Given the description of an element on the screen output the (x, y) to click on. 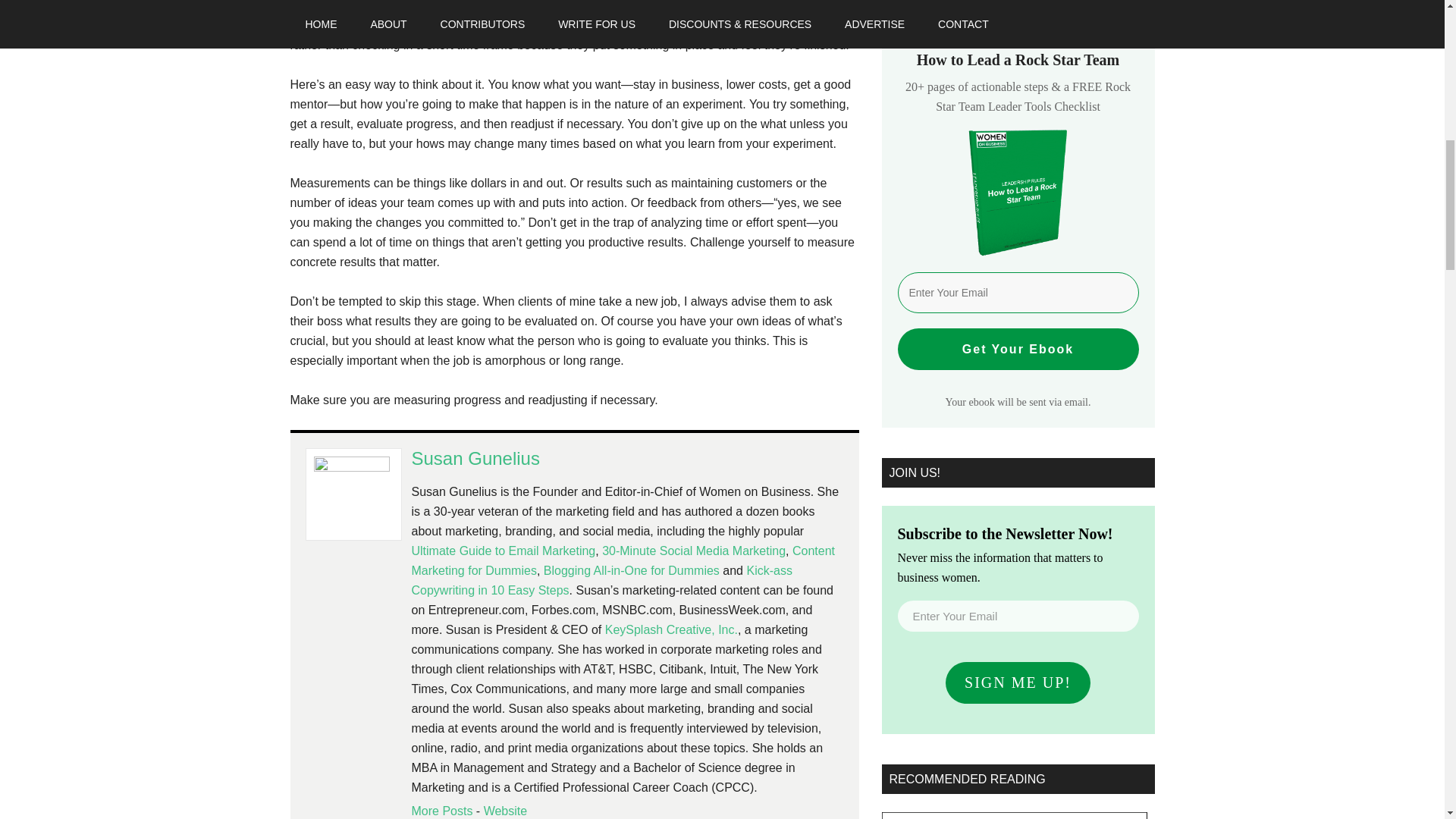
More Posts (440, 810)
Kick-ass Copywriting in 10 Easy Steps (601, 580)
30-Minute Social Media Marketing (694, 550)
Susan Gunelius (505, 810)
More posts by Susan Gunelius (440, 810)
Get Your Ebook (1018, 349)
Ultimate Guide to Email Marketing (502, 550)
Susan Gunelius (474, 457)
Blogging All-in-One for Dummies (631, 570)
KeySplash Creative, Inc. (671, 629)
Content Marketing for Dummies (622, 560)
Susan Gunelius (474, 457)
Website (505, 810)
